Given the description of an element on the screen output the (x, y) to click on. 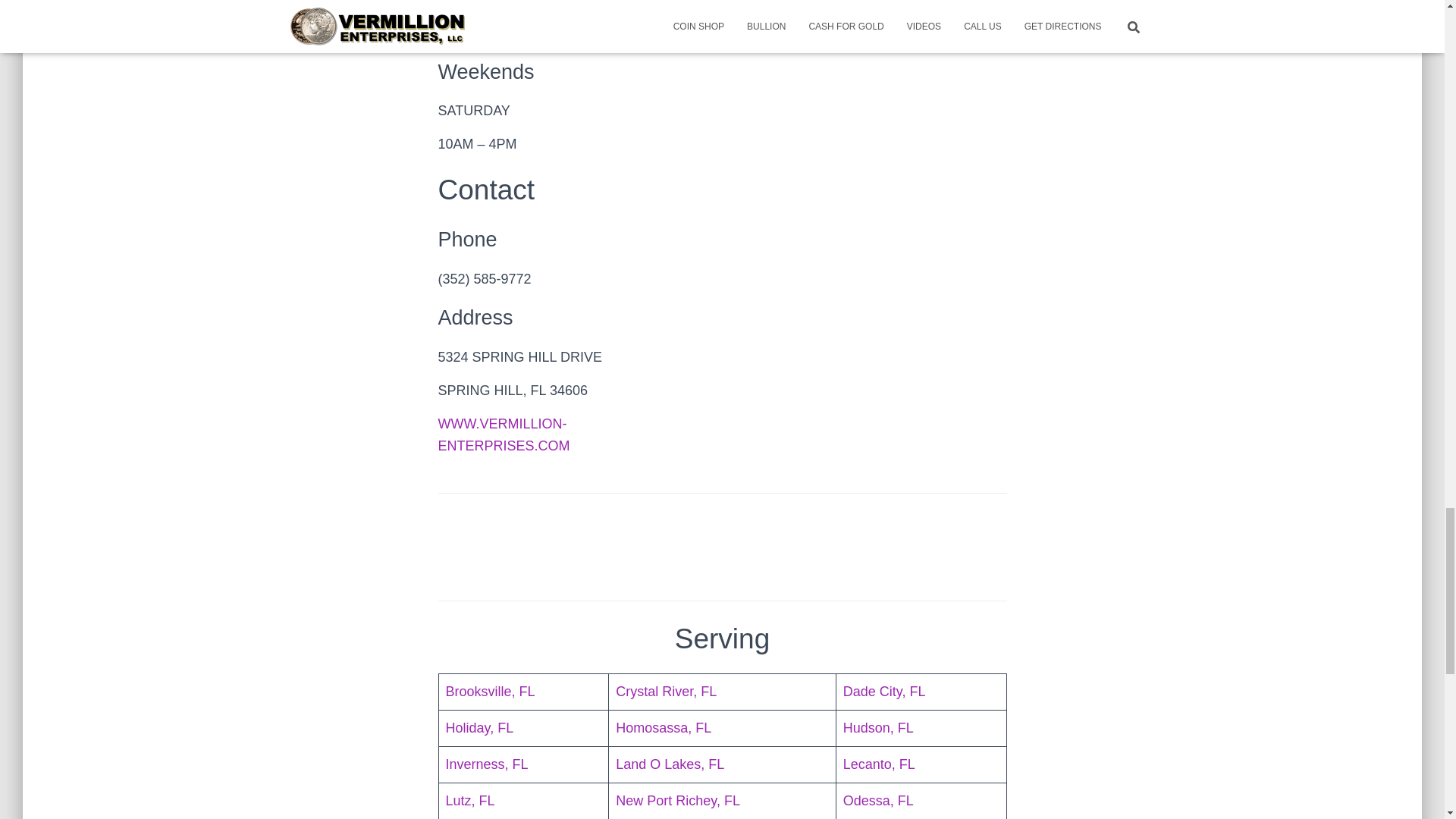
Dade City, FL (884, 691)
Holiday, FL (479, 727)
Brooksville, FL (490, 691)
WWW.VERMILLION-ENTERPRISES.COM (504, 434)
Crystal River, FL (665, 691)
